Given the description of an element on the screen output the (x, y) to click on. 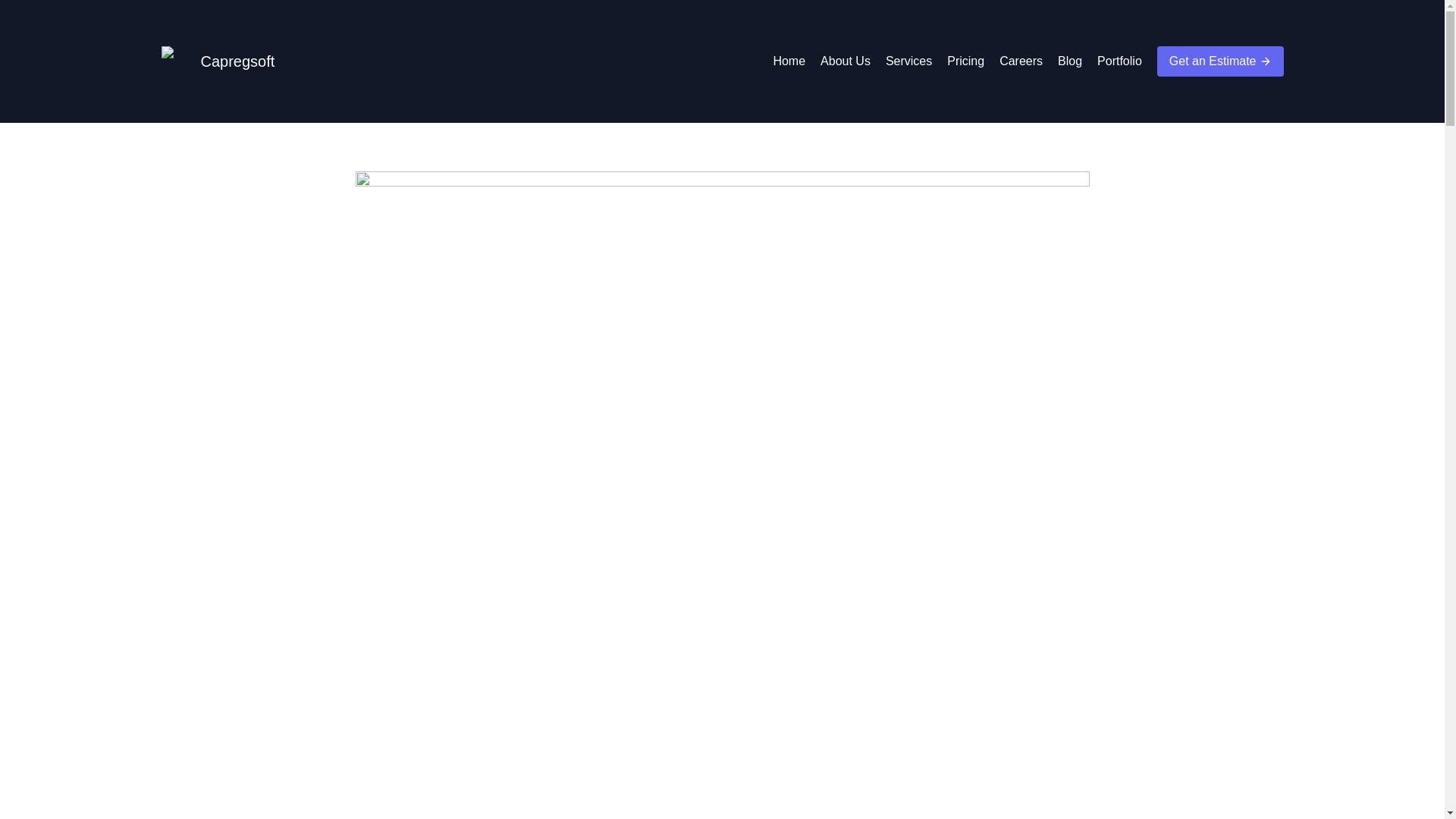
Services (908, 61)
CapregSoft (175, 60)
About Us (845, 61)
Pricing (965, 61)
Get an Estimate (1220, 60)
Capregsoft (217, 60)
Blog (1069, 61)
Careers (1020, 61)
Home (789, 61)
Portfolio (1119, 61)
